Given the description of an element on the screen output the (x, y) to click on. 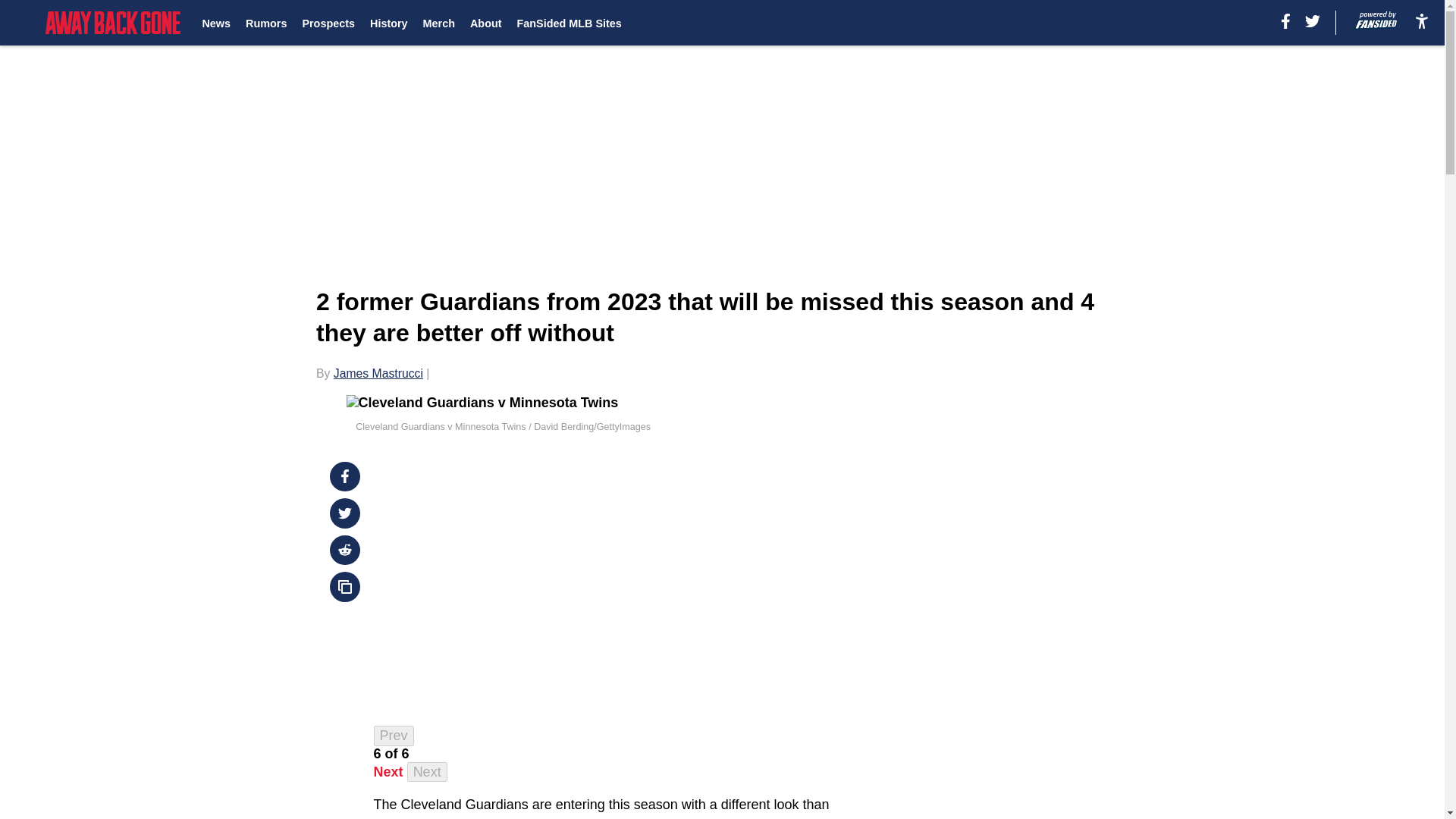
Next (388, 771)
News (216, 23)
History (388, 23)
Rumors (266, 23)
Merch (438, 23)
FanSided MLB Sites (568, 23)
Next (426, 772)
About (486, 23)
James Mastrucci (378, 373)
Prospects (328, 23)
